Given the description of an element on the screen output the (x, y) to click on. 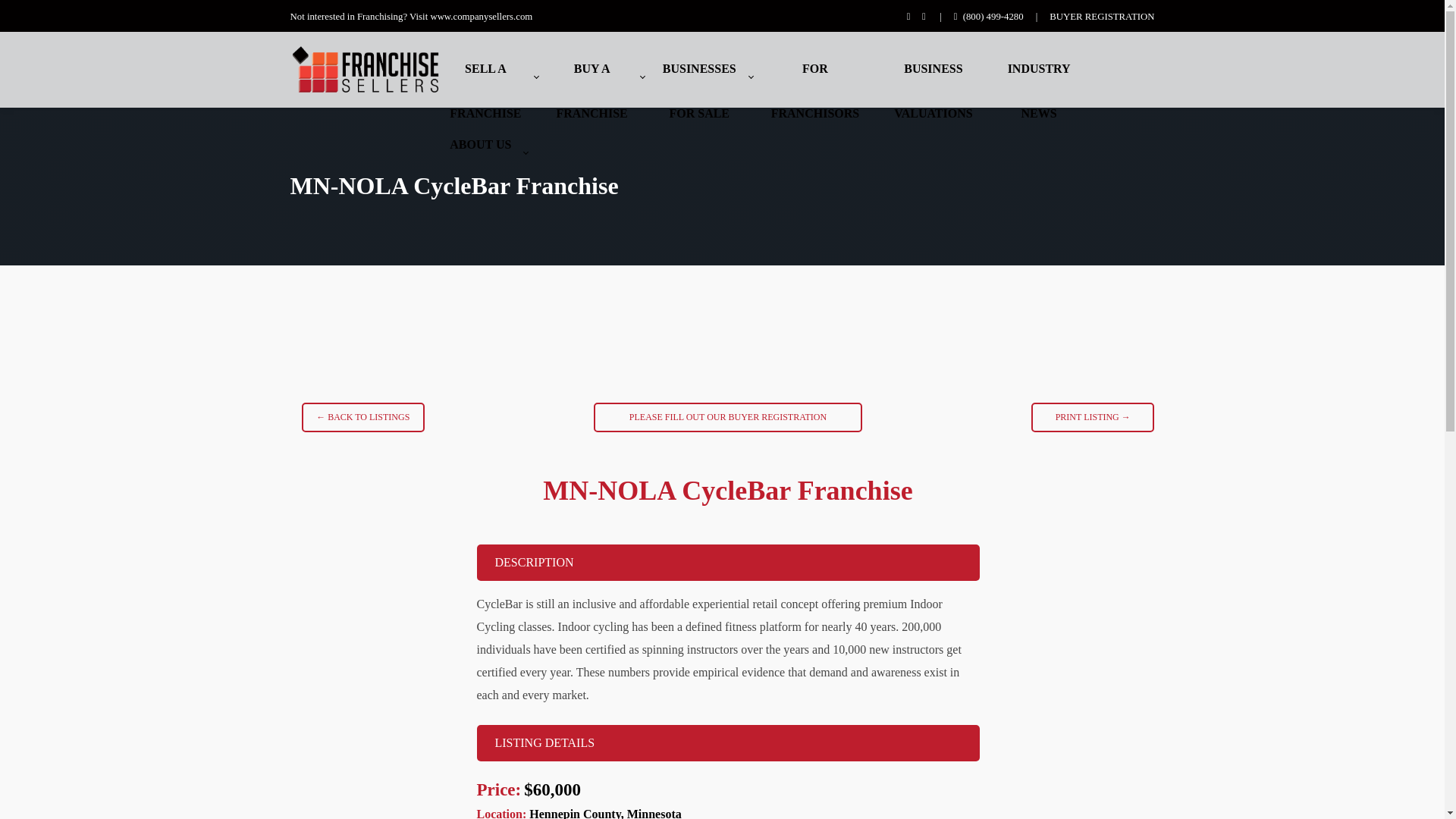
ABOUT US (699, 69)
www.companysellers.com (814, 69)
BUYER REGISTRATION (480, 145)
